Given the description of an element on the screen output the (x, y) to click on. 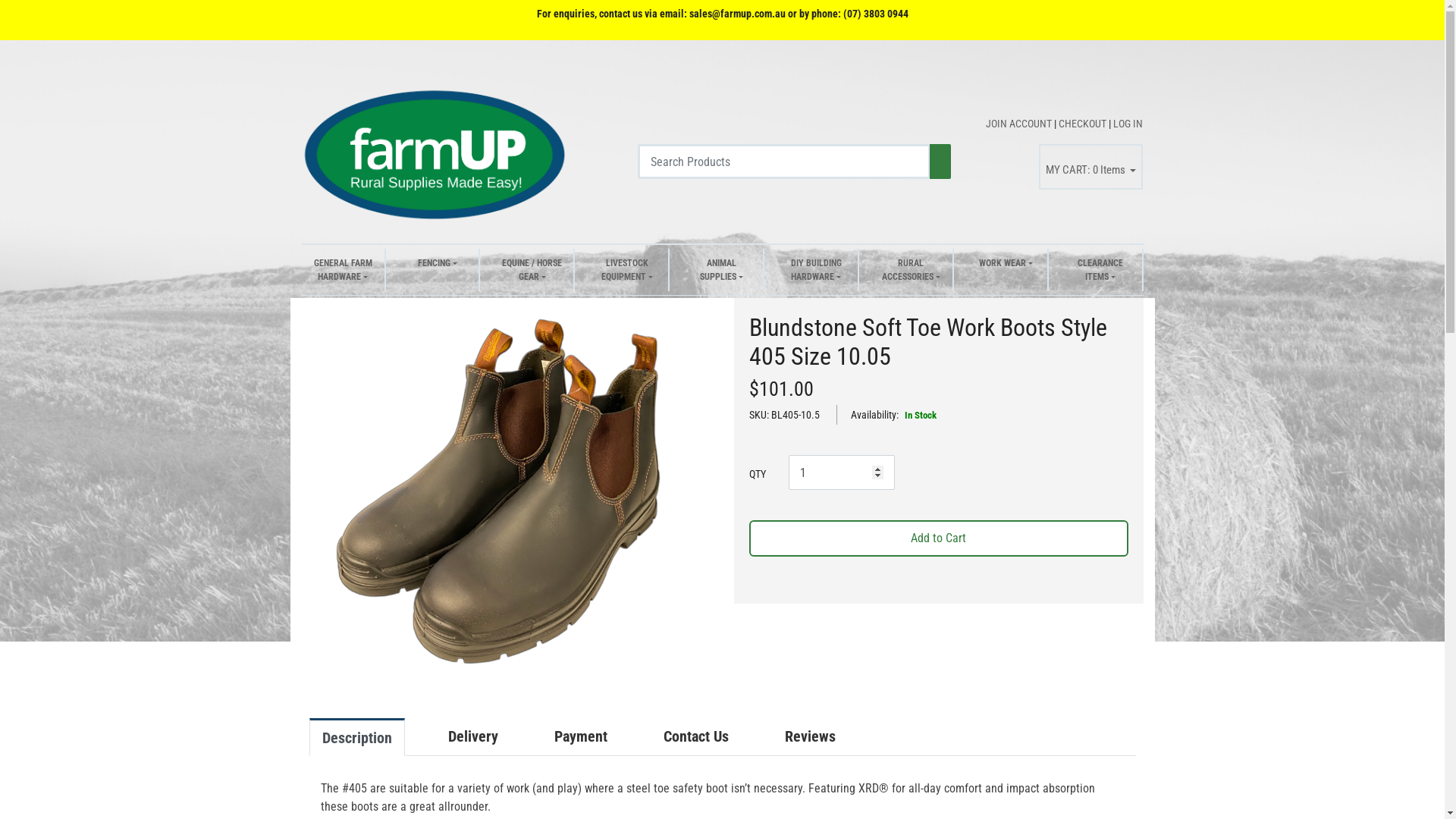
LIVESTOCK EQUIPMENT Element type: text (626, 269)
FENCING Element type: text (436, 269)
WORK WEAR Element type: text (1005, 269)
MY CART: 0 Items Element type: text (1090, 166)
farmUP Element type: hover (434, 152)
Delivery Element type: text (473, 736)
LOG IN Element type: text (1127, 123)
Contact Us Element type: text (695, 736)
Payment Element type: text (580, 736)
ANIMAL SUPPLIES Element type: text (721, 269)
Reviews Element type: text (809, 736)
Description Element type: text (356, 737)
Add to Cart Element type: text (938, 538)
DIY BUILDING HARDWARE Element type: text (816, 269)
RURAL ACCESSORIES Element type: text (910, 269)
EQUINE / HORSE GEAR Element type: text (531, 269)
GENERAL FARM HARDWARE Element type: text (342, 269)
JOIN ACCOUNT Element type: text (1019, 123)
Search Element type: text (939, 161)
CHECKOUT Element type: text (1083, 123)
CLEARANCE ITEMS Element type: text (1099, 269)
